Given the description of an element on the screen output the (x, y) to click on. 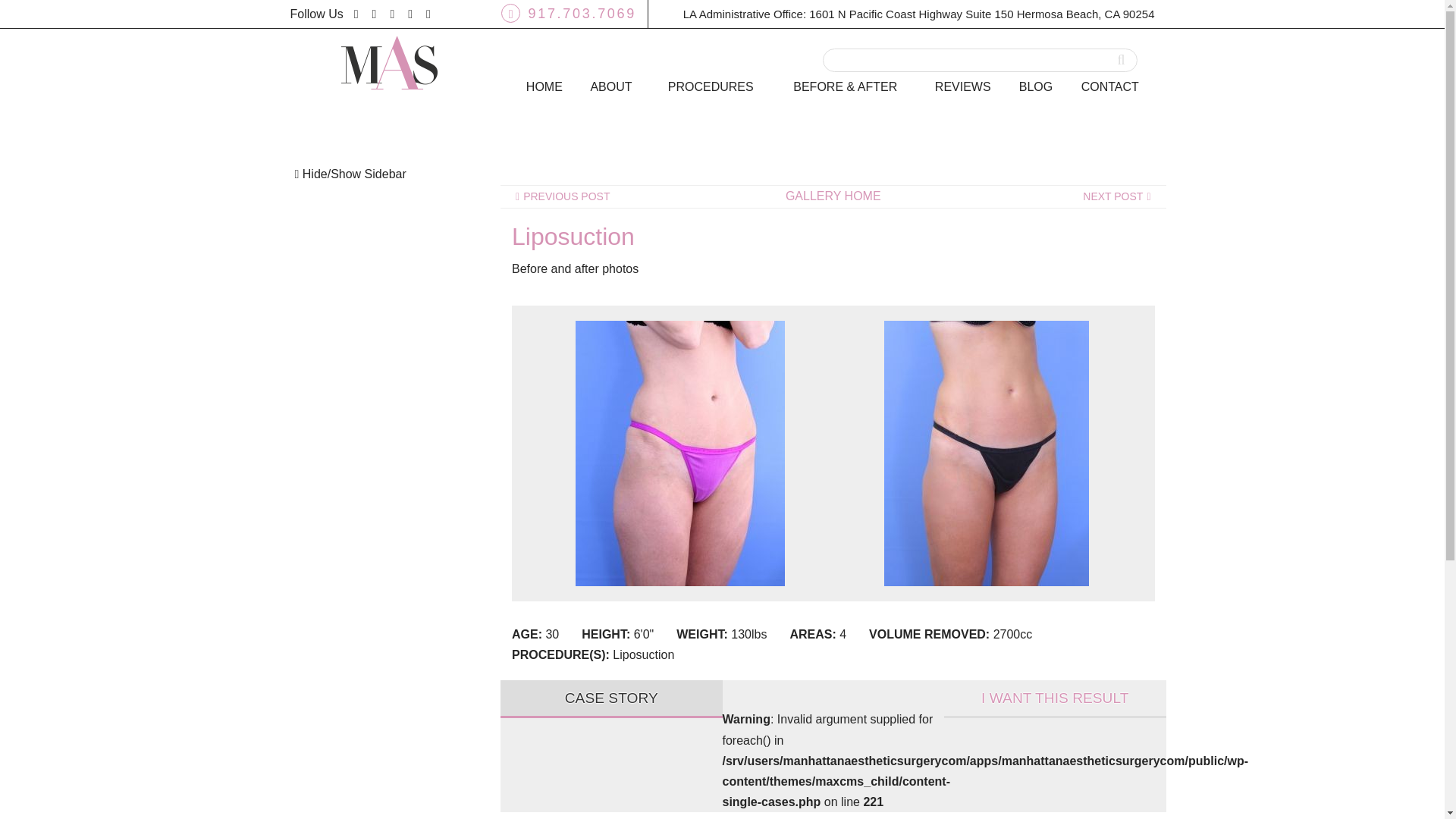
ABOUT (612, 88)
NEXT POST (1118, 196)
CASE STORY (611, 699)
917.703.7069 (568, 14)
PROCEDURES (713, 88)
REVIEWS (962, 88)
HOME (544, 88)
GALLERY HOME (833, 195)
I WANT THIS RESULT (1054, 699)
